Given the description of an element on the screen output the (x, y) to click on. 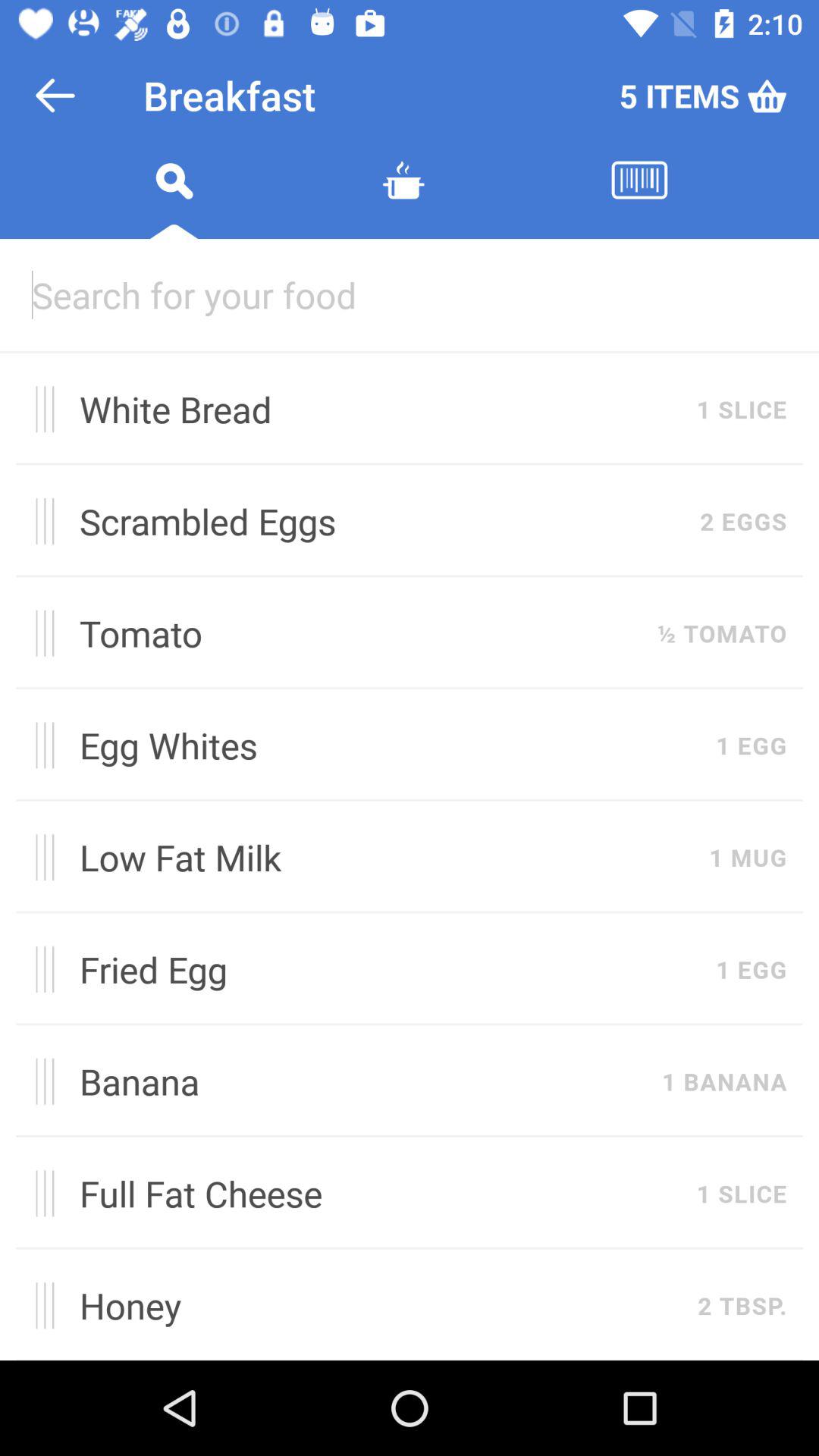
search for food (173, 198)
